Given the description of an element on the screen output the (x, y) to click on. 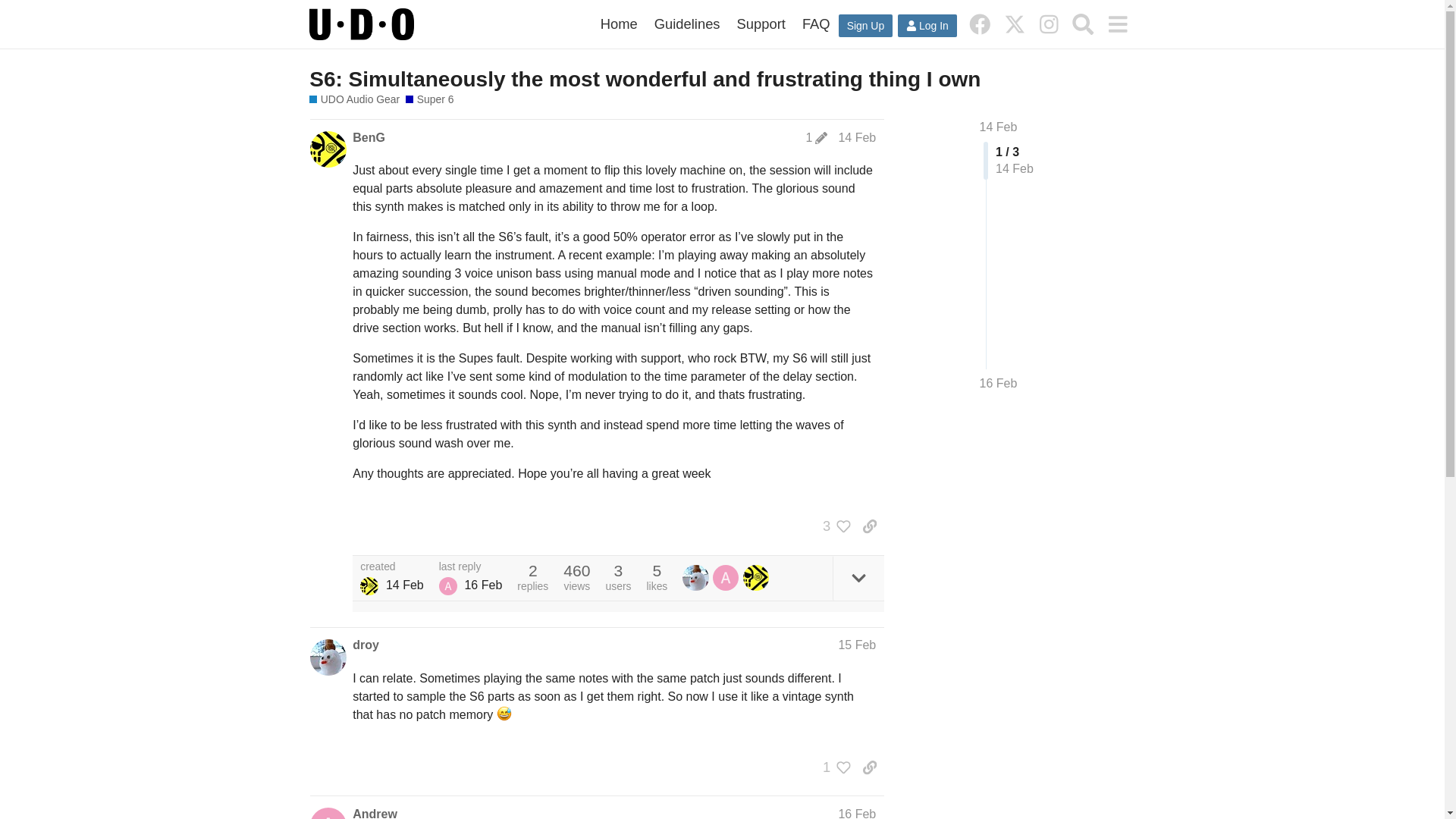
14 Feb (998, 126)
Sign Up (865, 25)
Follow us on Facebook! (979, 23)
post last edited on 1 Mar 2024 03:10 (815, 137)
Guidelines (687, 23)
Jump to the first post (998, 126)
Super 6 (429, 99)
Log In (927, 25)
UDO Audio Gear (353, 99)
last reply (470, 566)
14 Feb (857, 137)
copy a link to this post to clipboard (869, 525)
3 people liked this post (832, 525)
BenG (368, 137)
Follow us on Instagram! (1048, 23)
